Given the description of an element on the screen output the (x, y) to click on. 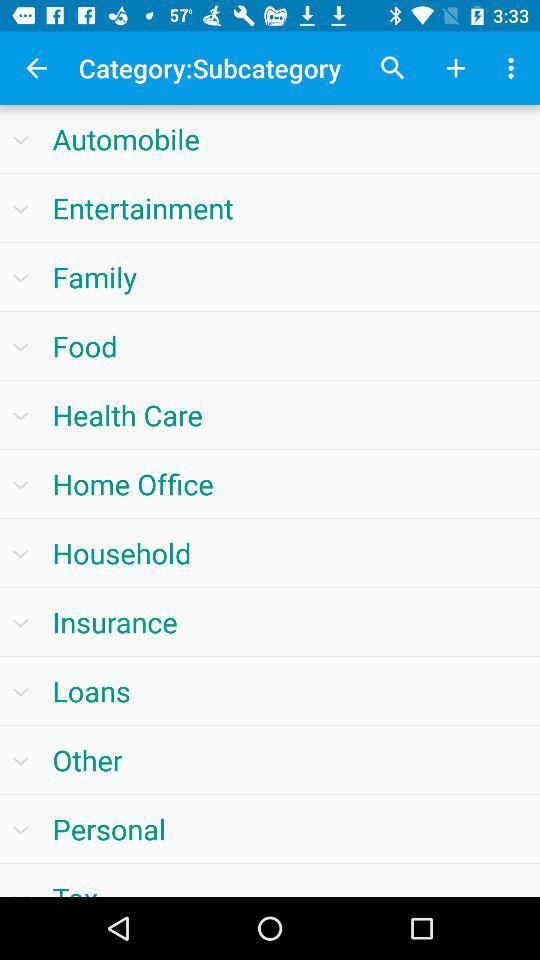
turn off item above the automobile icon (455, 67)
